Given the description of an element on the screen output the (x, y) to click on. 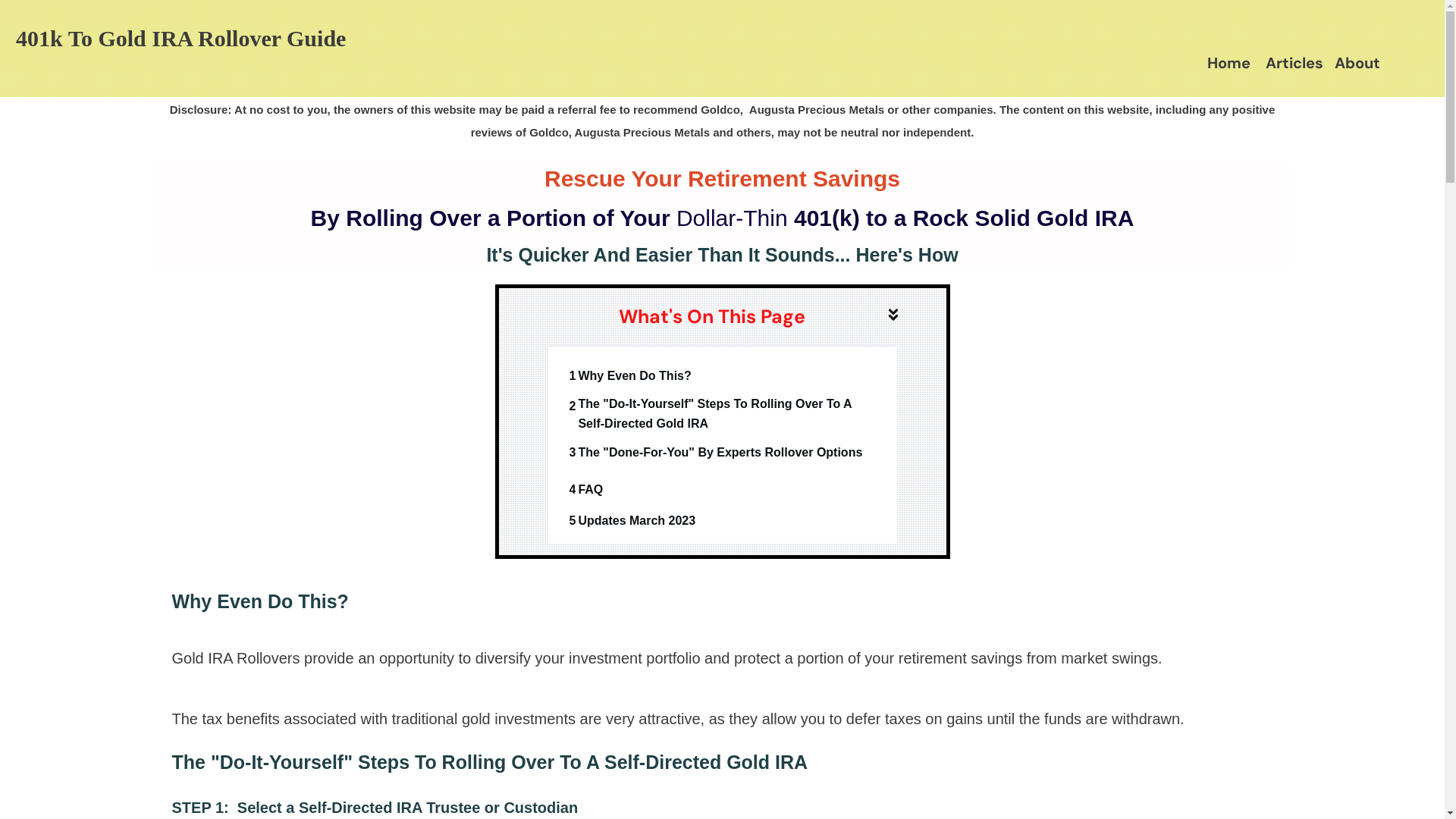
Home Element type: text (1228, 62)
FAQ Element type: text (589, 489)
The "Done-For-You" By Experts Rollover Options Element type: text (719, 452)
Why Even Do This? Element type: text (633, 375)
Updates March 2023 Element type: text (636, 520)
